Given the description of an element on the screen output the (x, y) to click on. 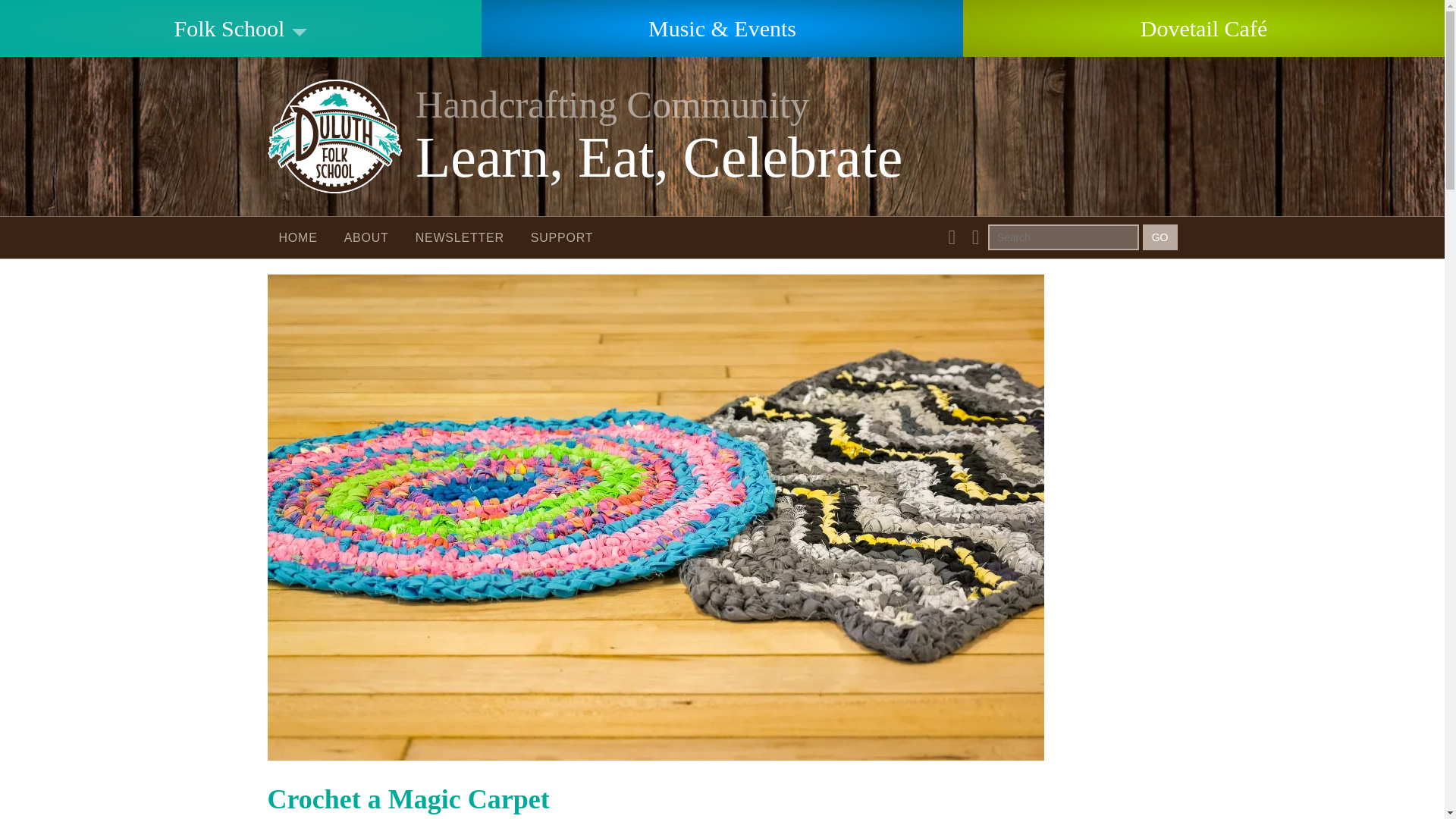
NEWSLETTER (459, 237)
Crochet a Magic Carpet (654, 749)
Folk School (240, 28)
Crochet a Magic Carpet (407, 798)
Go (1159, 237)
ABOUT (721, 136)
HOME (366, 237)
